Given the description of an element on the screen output the (x, y) to click on. 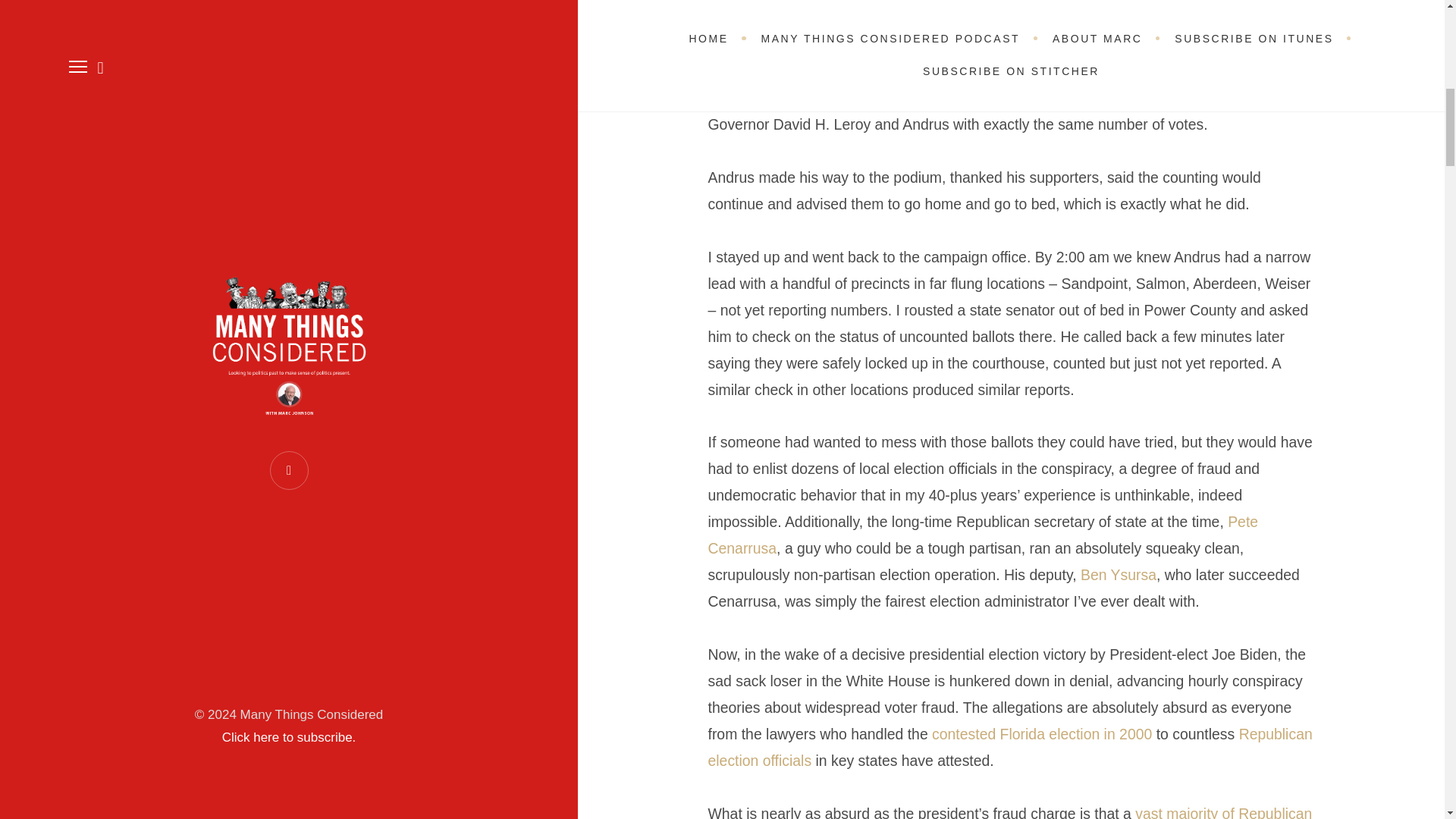
vast majority of Republican office holders (1010, 812)
Pete Cenarrusa (983, 534)
Ben Ysursa (1118, 574)
contested Florida election in 2000 (1041, 733)
Republican election officials (1010, 747)
